Given the description of an element on the screen output the (x, y) to click on. 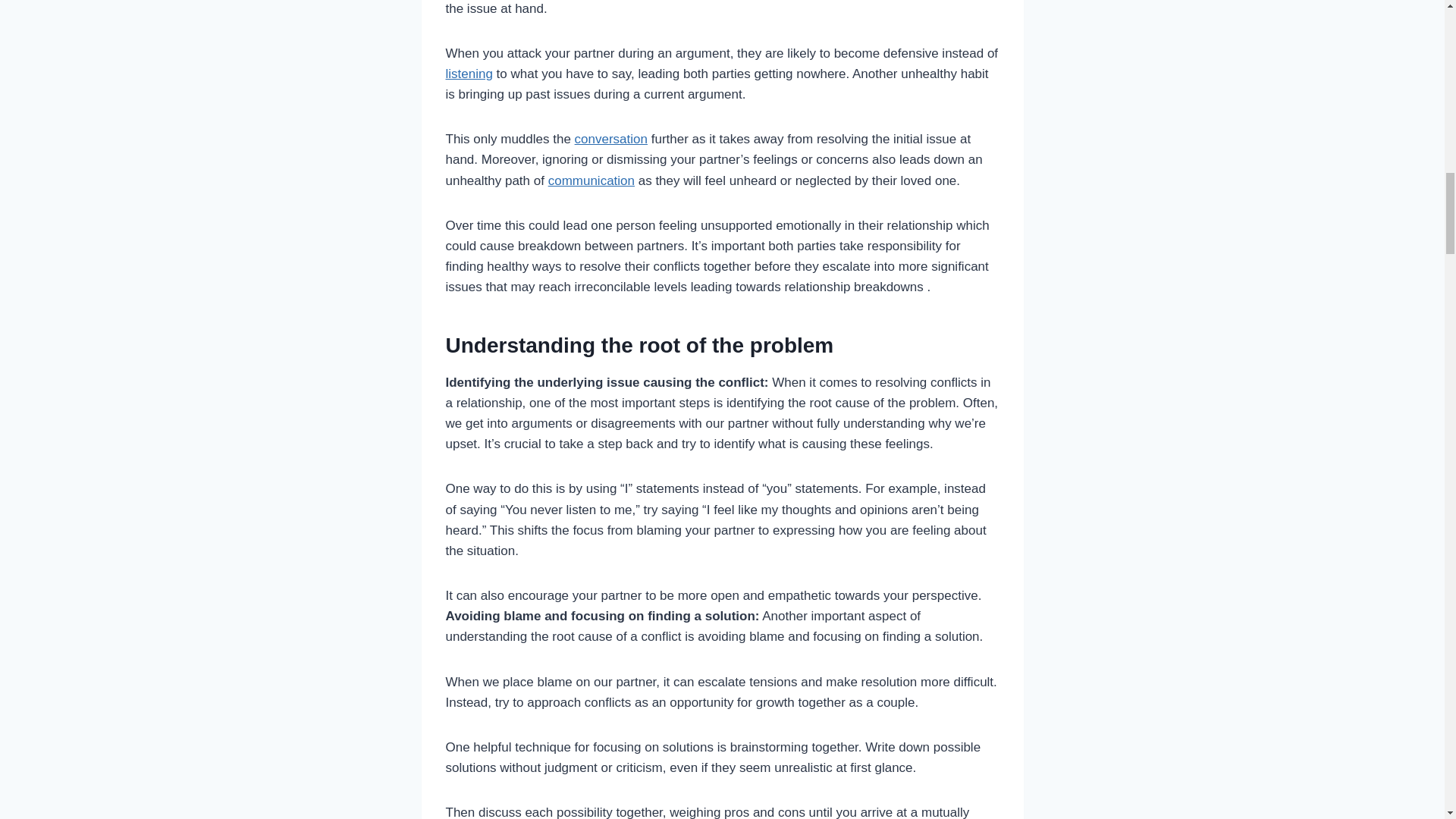
communication (591, 180)
conversation (611, 138)
listening (469, 73)
